Given the description of an element on the screen output the (x, y) to click on. 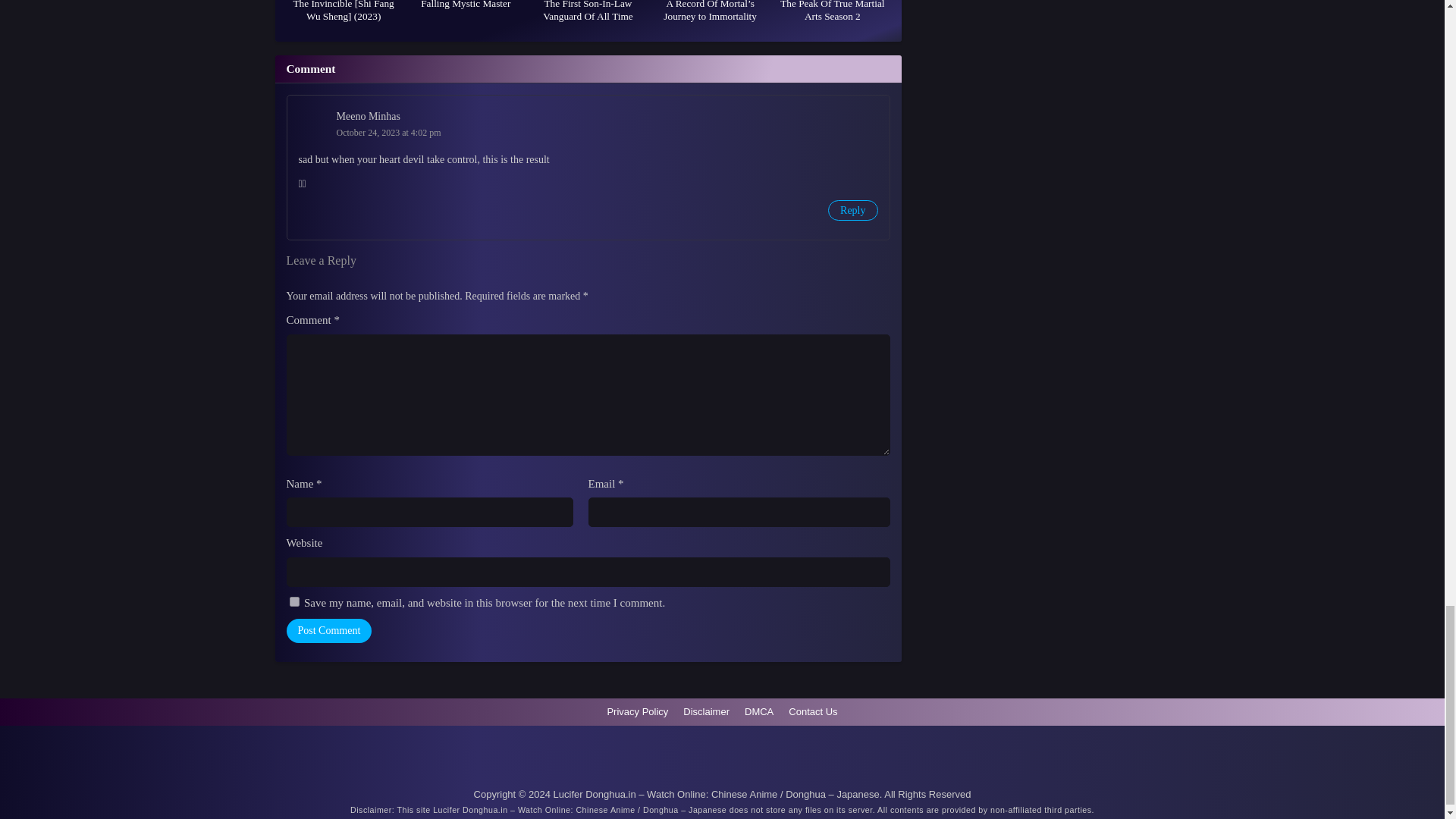
yes (294, 601)
Post Comment (329, 630)
